Given the description of an element on the screen output the (x, y) to click on. 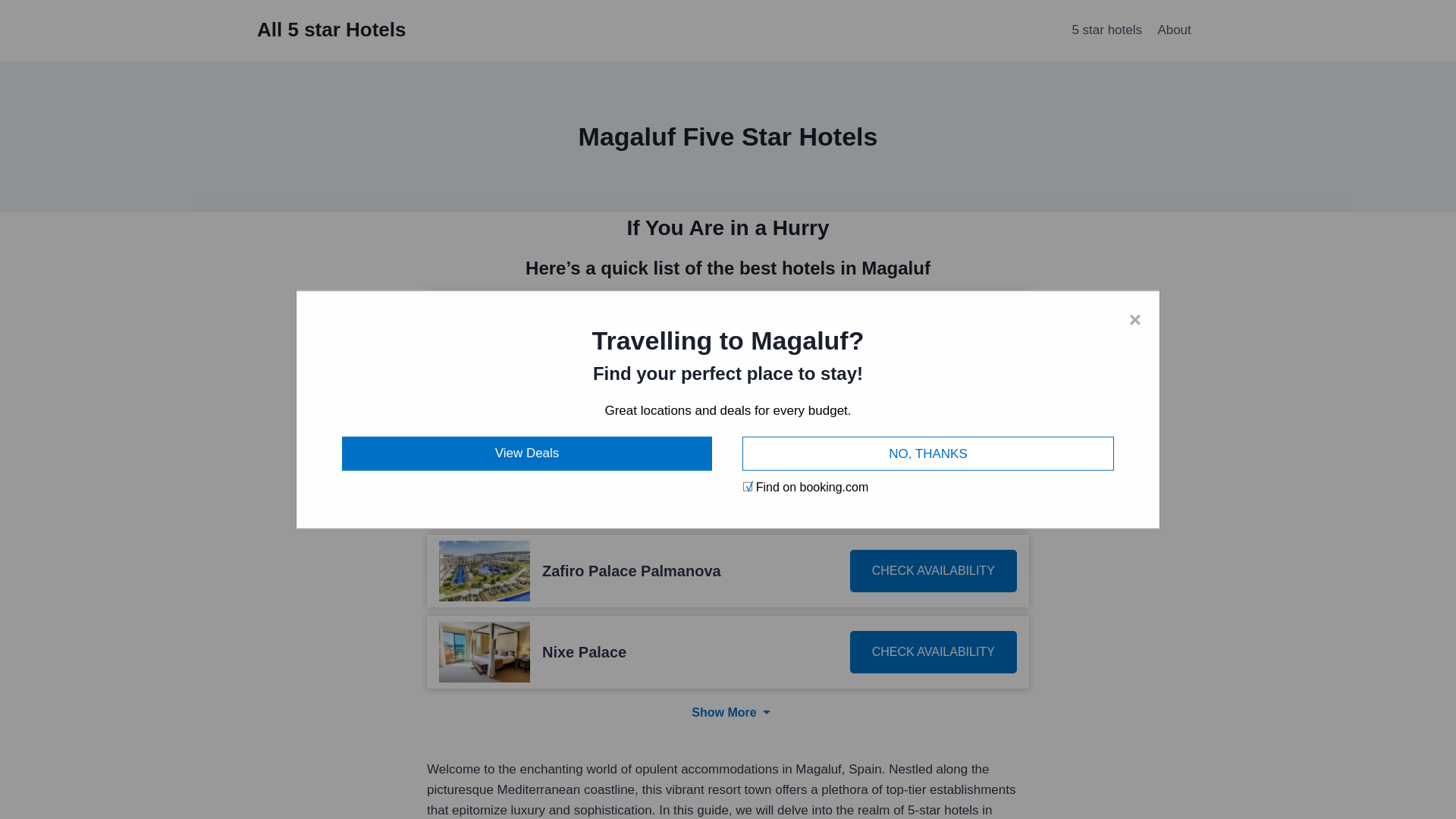
About (1174, 30)
5 star hotels (1107, 30)
All 5 star Hotels (331, 29)
